Given the description of an element on the screen output the (x, y) to click on. 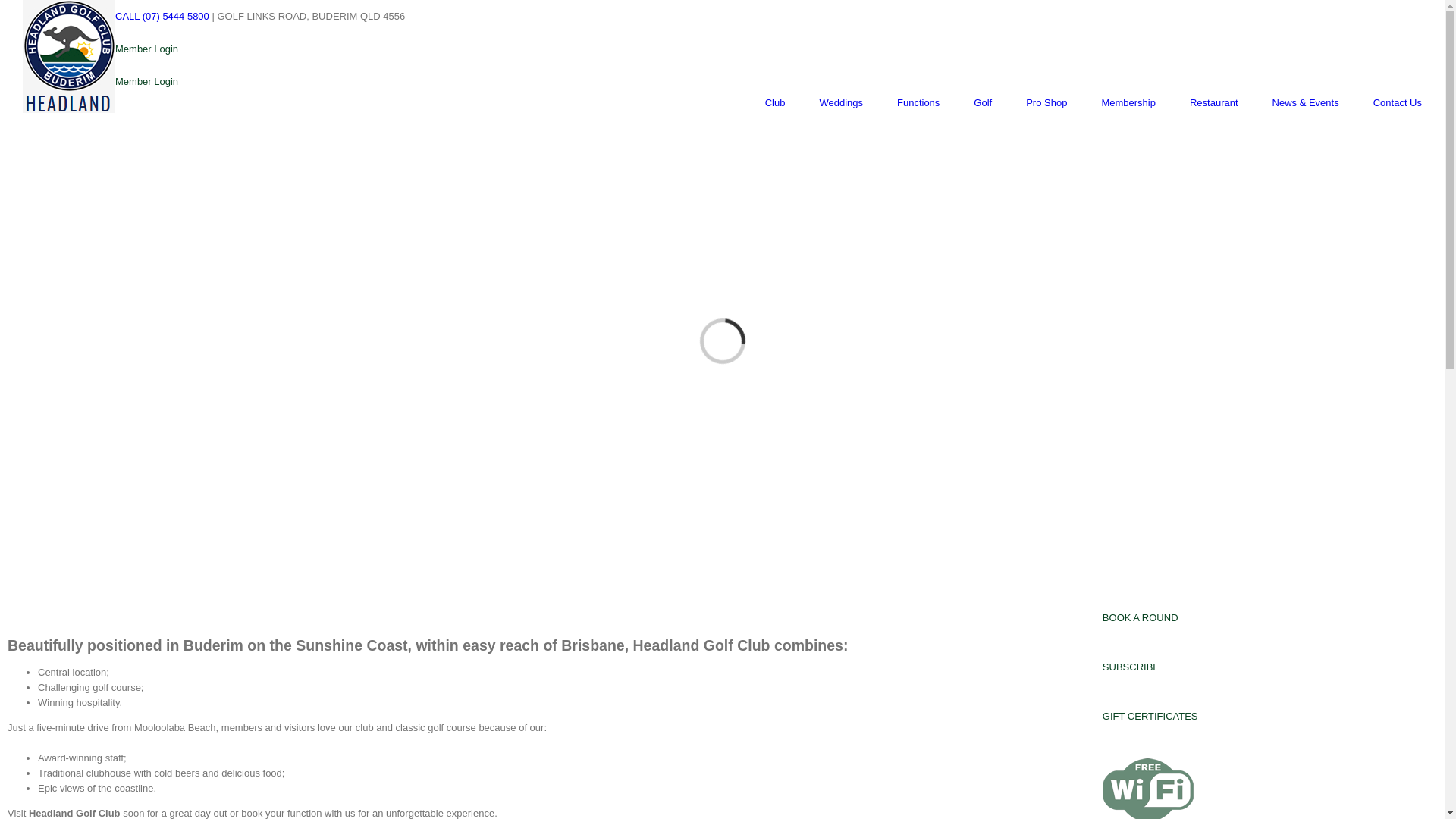
Club Element type: text (775, 102)
News & Events Element type: text (1305, 102)
GIFT CERTIFICATES Element type: text (1150, 715)
Weddings Element type: text (840, 102)
Functions Element type: text (918, 102)
Golf Element type: text (982, 102)
Pro Shop Element type: text (1046, 102)
Restaurant Element type: text (1213, 102)
CALL (07) 5444 5800 Element type: text (162, 15)
Member Login Element type: text (146, 48)
SUBSCRIBE Element type: text (1130, 666)
Member Login Element type: text (146, 81)
BOOK A ROUND Element type: text (1140, 617)
Membership Element type: text (1128, 102)
Contact Us Element type: text (1397, 102)
